Given the description of an element on the screen output the (x, y) to click on. 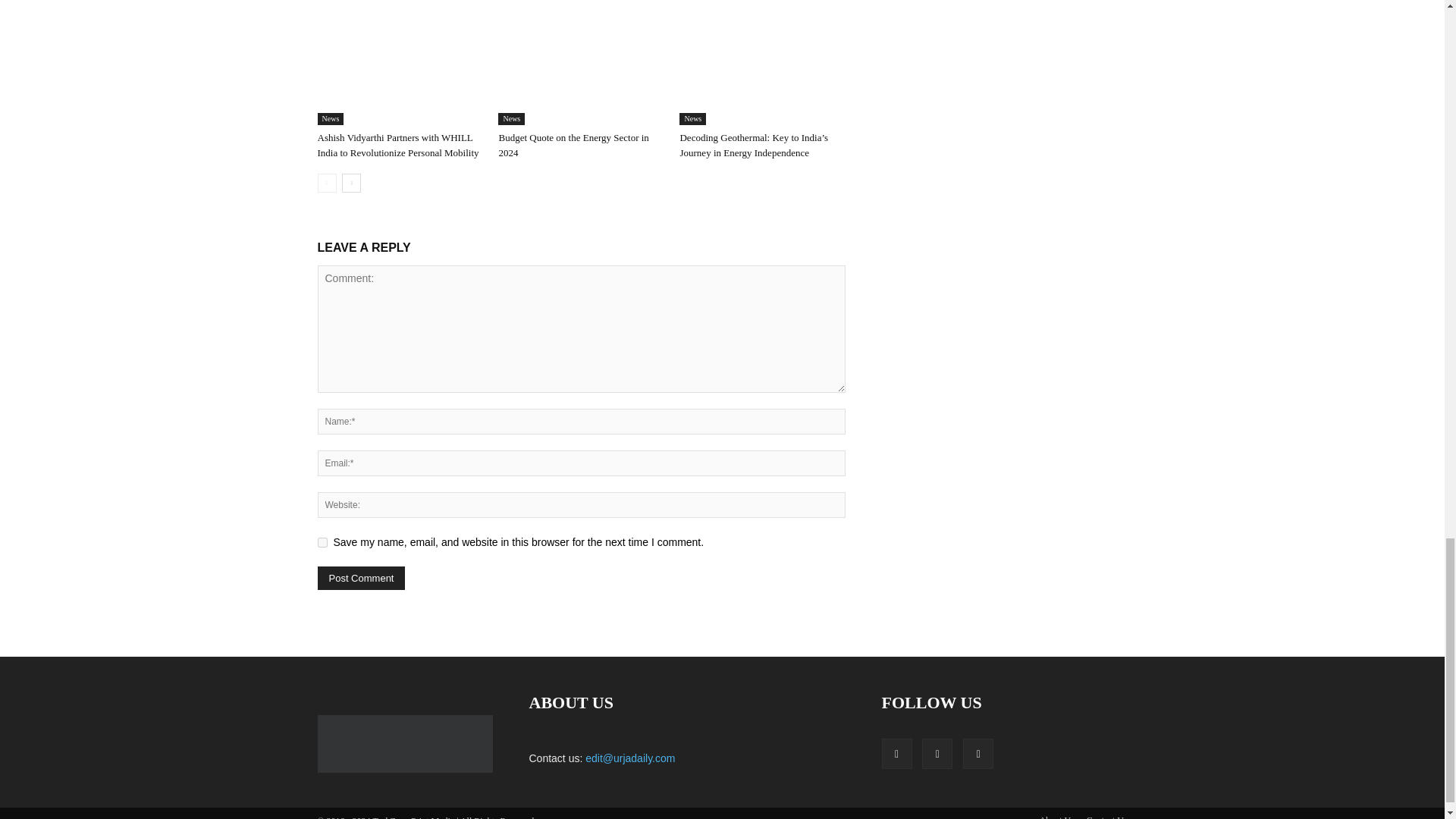
Post Comment (360, 577)
yes (321, 542)
